Given the description of an element on the screen output the (x, y) to click on. 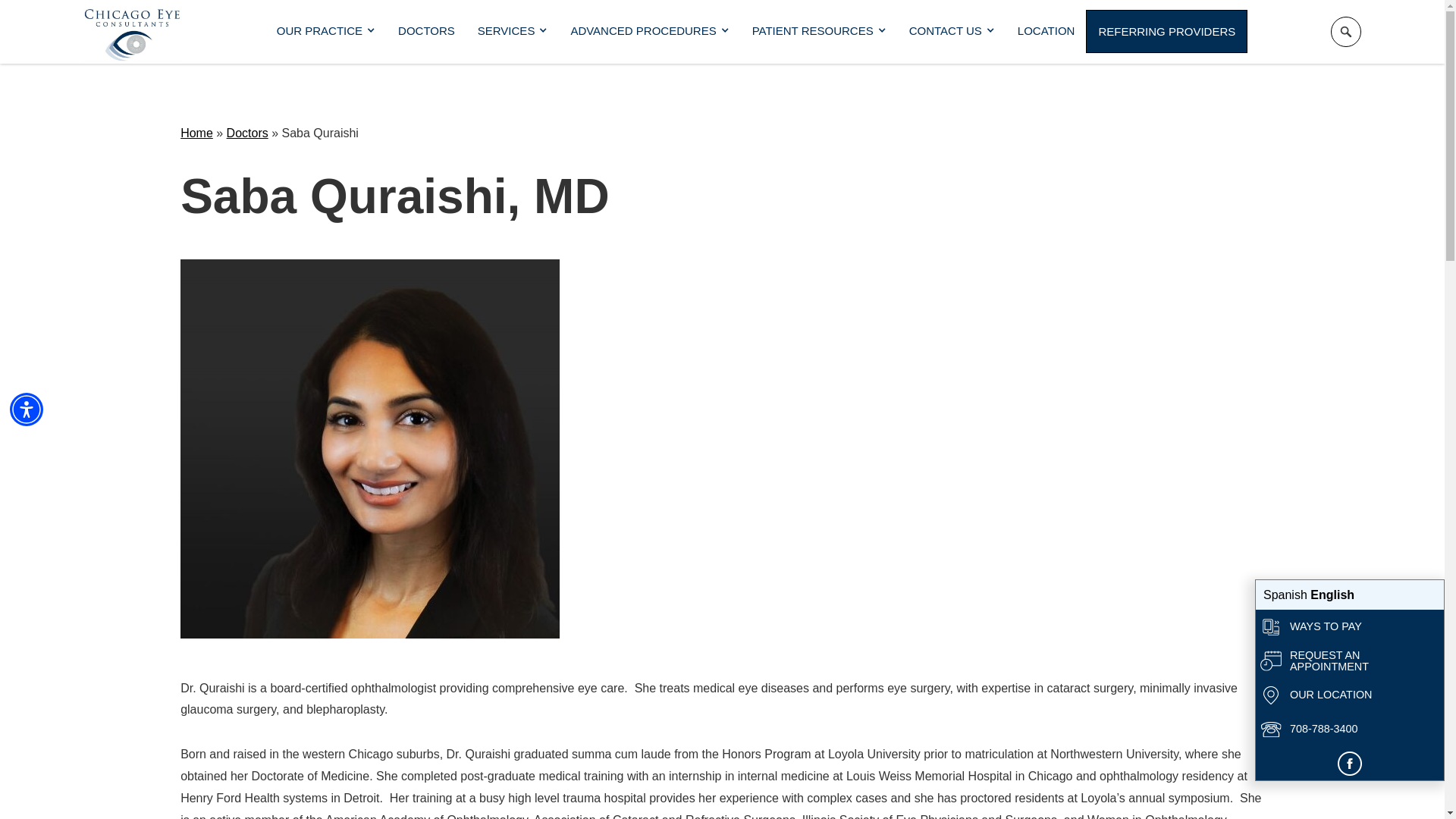
ADVANCED PROCEDURES (649, 30)
Doctors (426, 30)
Search (1345, 31)
PATIENT RESOURCES (819, 30)
DOCTORS (426, 30)
Accessibility Menu (26, 409)
Search (1345, 31)
Services (512, 30)
Go to homepage (132, 31)
SERVICES (512, 30)
Our Practice (325, 30)
OUR PRACTICE (325, 30)
